Given the description of an element on the screen output the (x, y) to click on. 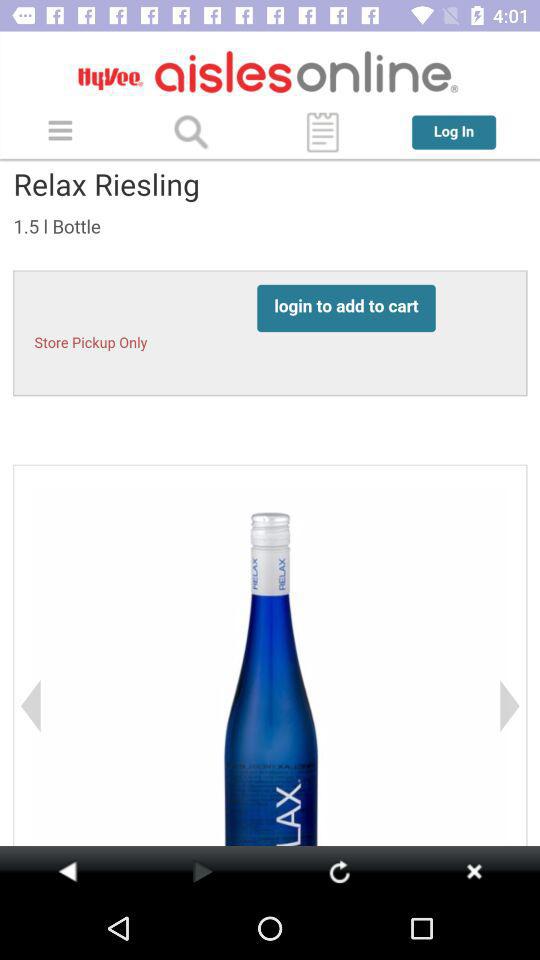
go back (474, 871)
